Given the description of an element on the screen output the (x, y) to click on. 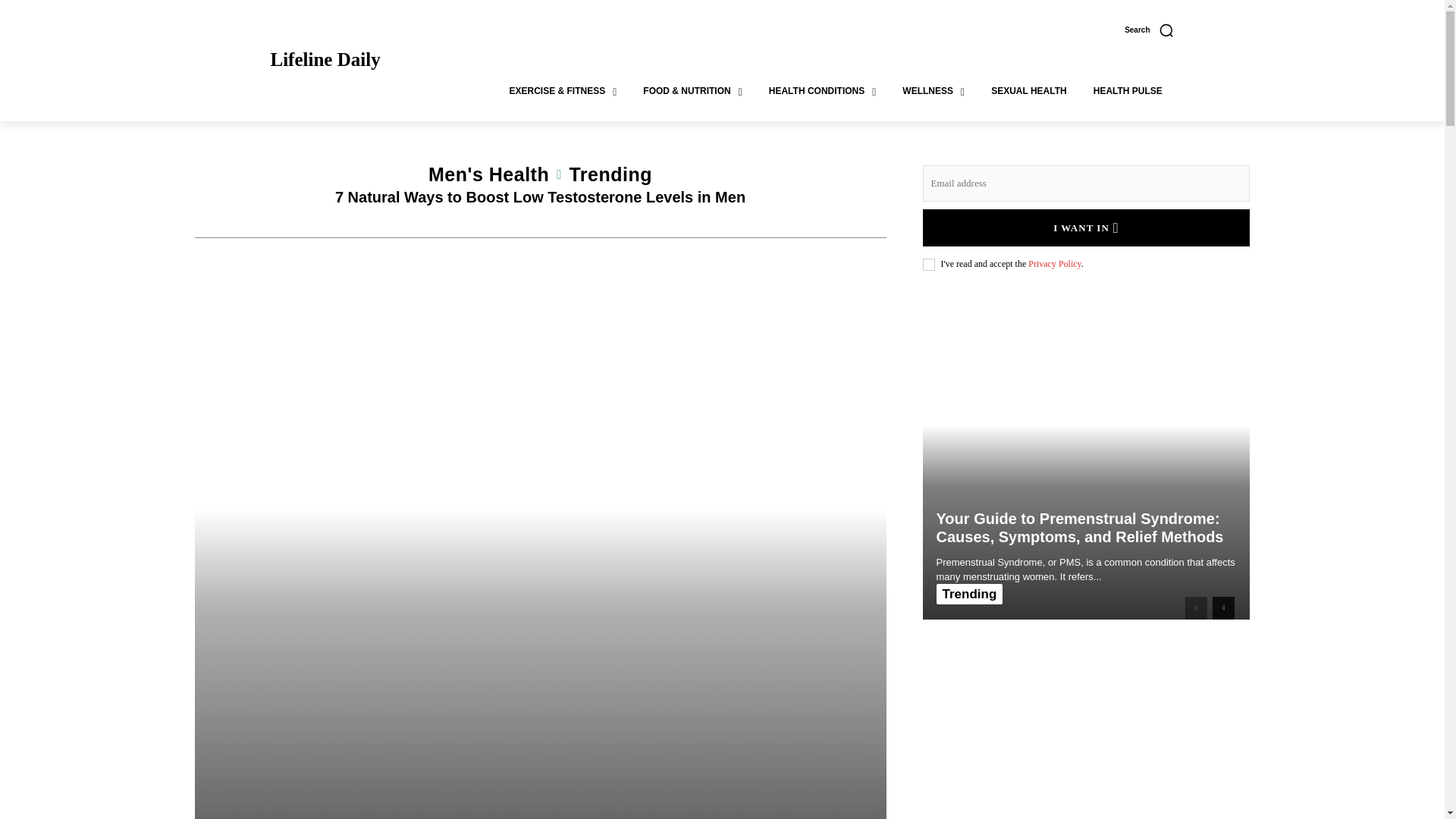
HEALTH CONDITIONS (822, 90)
Lifeline Daily (324, 58)
WELLNESS (933, 90)
